Given the description of an element on the screen output the (x, y) to click on. 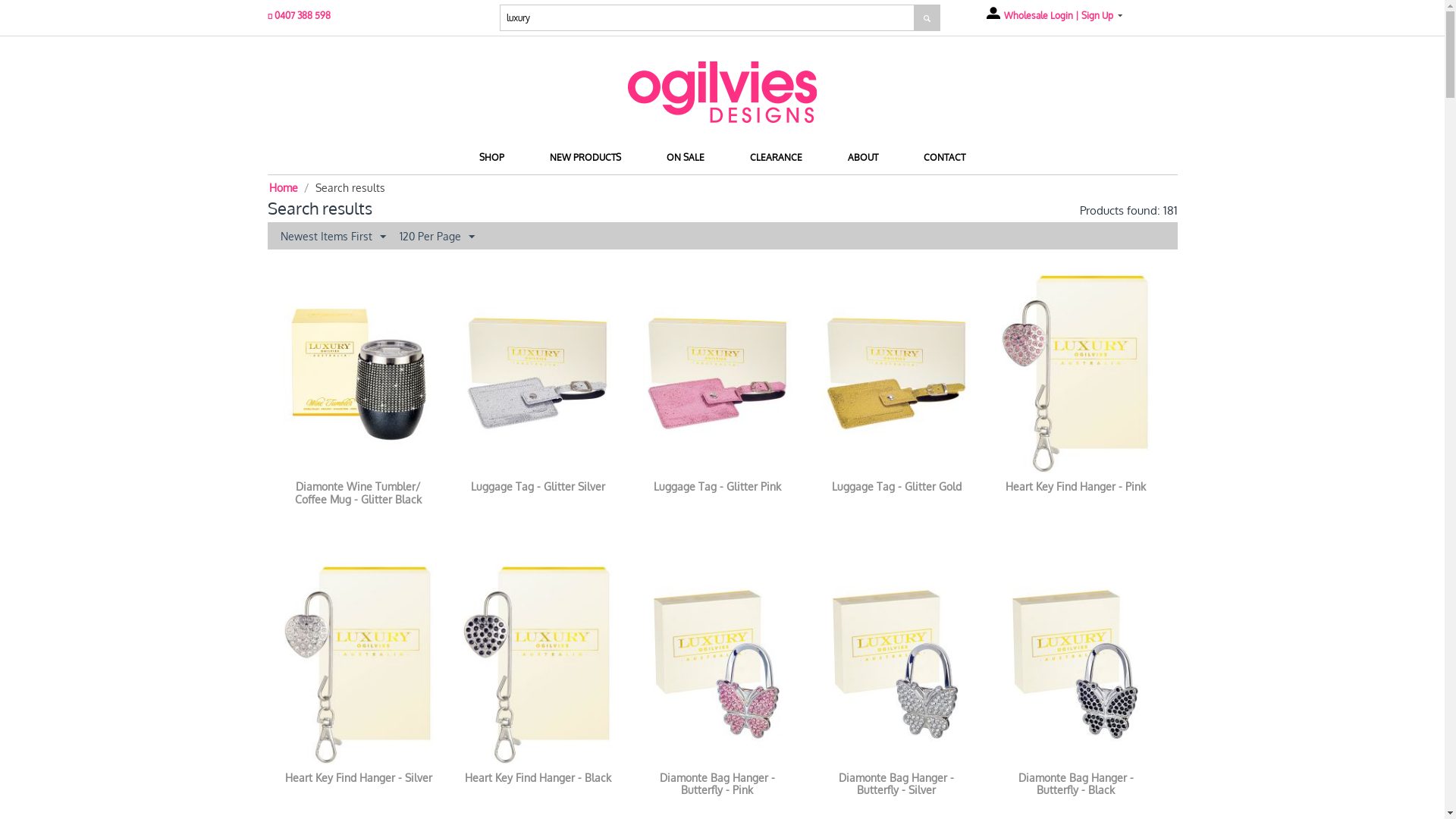
Wholesale Login | Sign Up Element type: text (1053, 15)
Heart Key Find Hanger - Silver Element type: text (358, 777)
Diamonte Bag Hanger - Butterfly - Pink Element type: text (716, 784)
Search Element type: hover (926, 17)
SHOP Element type: text (491, 157)
ON SALE Element type: text (685, 157)
ABOUT Element type: text (862, 157)
Newest Items First Element type: text (332, 235)
Heart Key Find Hanger - Pink Element type: text (1076, 486)
Luggage Tag - Glitter Gold Element type: text (896, 486)
Home Element type: text (282, 187)
CONTACT Element type: text (944, 157)
NEW PRODUCTS Element type: text (585, 157)
Heart Key Find Hanger - Black Element type: text (537, 777)
Luggage Tag - Glitter Silver Element type: text (537, 486)
CLEARANCE Element type: text (776, 157)
Diamonte Bag Hanger - Butterfly - Black Element type: text (1076, 784)
Luggage Tag - Glitter Pink Element type: text (716, 486)
Home Element type: hover (721, 91)
Diamonte Bag Hanger - Butterfly - Silver Element type: text (896, 784)
120 Per Page Element type: text (437, 235)
Diamonte Wine Tumbler/ Coffee Mug - Glitter Black Element type: text (358, 493)
Find a product ... Element type: hover (708, 17)
